Given the description of an element on the screen output the (x, y) to click on. 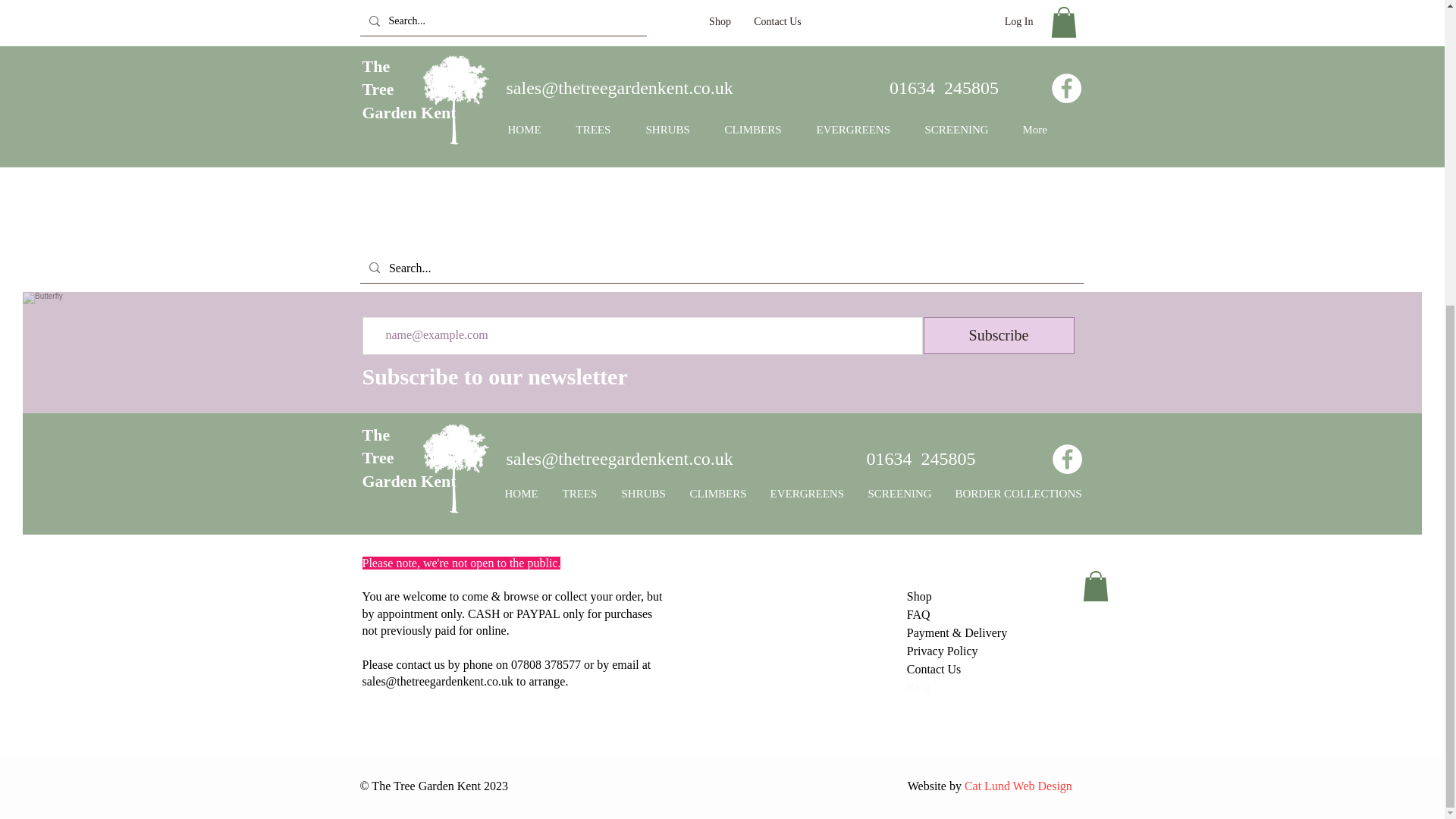
Shop (919, 595)
Contact Us (933, 668)
01634  245805 (920, 458)
FAQ (918, 614)
Blog (918, 686)
HOME (521, 493)
Subscribe (998, 334)
BORDER COLLECTIONS (1018, 493)
SCREENING (900, 493)
SHRUBS (644, 493)
TREES (580, 493)
EVERGREENS (807, 493)
Privacy Policy (942, 650)
CLIMBERS (718, 493)
